Given the description of an element on the screen output the (x, y) to click on. 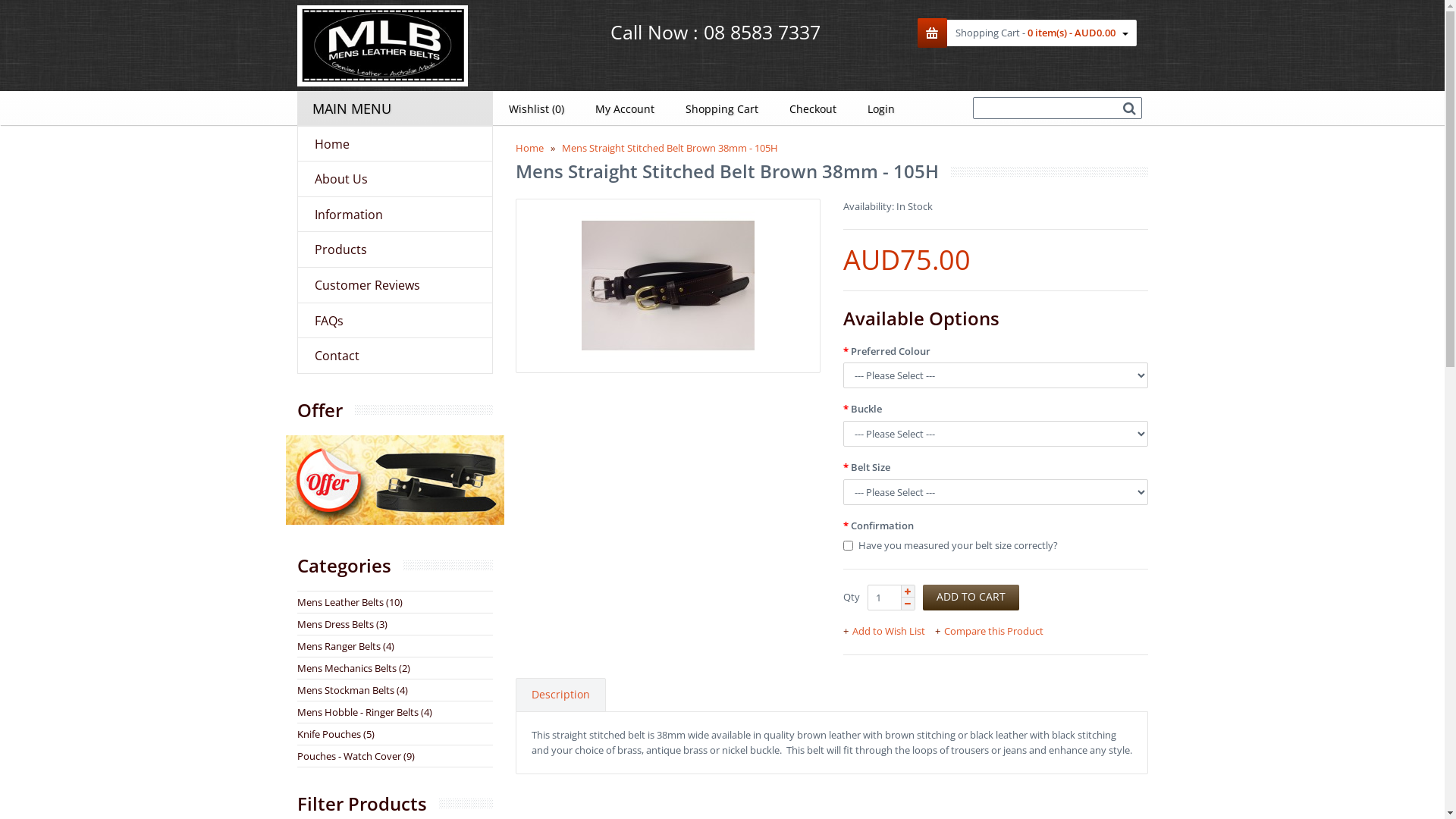
Checkout Element type: text (812, 108)
Login Element type: text (880, 108)
Home Element type: text (529, 147)
Description Element type: text (560, 694)
Wishlist (0) Element type: text (535, 108)
Compare this Product Element type: text (992, 630)
Information Element type: text (394, 214)
Mens Straight Stitched Belt Brown 38mm - 105H Element type: hover (667, 285)
My Account Element type: text (624, 108)
Mens Hobble - Ringer Belts (4) Element type: text (364, 711)
Mens Straight Stitched Belt Brown 38mm - 105H Element type: text (669, 147)
Add to Wish List Element type: text (887, 630)
Mens Ranger Belts (4) Element type: text (345, 645)
Products Element type: hover (394, 520)
About Us Element type: text (394, 178)
Knife Pouches (5) Element type: text (335, 733)
Products Element type: text (394, 249)
Mens Dress Belts (3) Element type: text (342, 623)
Mens Mechanics Belts (2) Element type: text (353, 667)
Mens Leather Belts (10) Element type: text (349, 601)
Mens Stockman Belts (4) Element type: text (352, 689)
Contact Element type: text (394, 355)
Home Element type: text (394, 143)
Mens Leather Belts Element type: hover (382, 82)
08 8583 7337 Element type: text (761, 31)
Mens Leather Belts Element type: hover (382, 45)
Cart Element type: hover (932, 32)
Mens Straight Stitched Belt Brown 38mm - 105H Element type: hover (666, 285)
Pouches - Watch Cover (9) Element type: text (355, 755)
FAQs Element type: text (394, 320)
Customer Reviews Element type: text (394, 284)
Products Element type: hover (394, 479)
Shopping Cart Element type: text (721, 108)
